Given the description of an element on the screen output the (x, y) to click on. 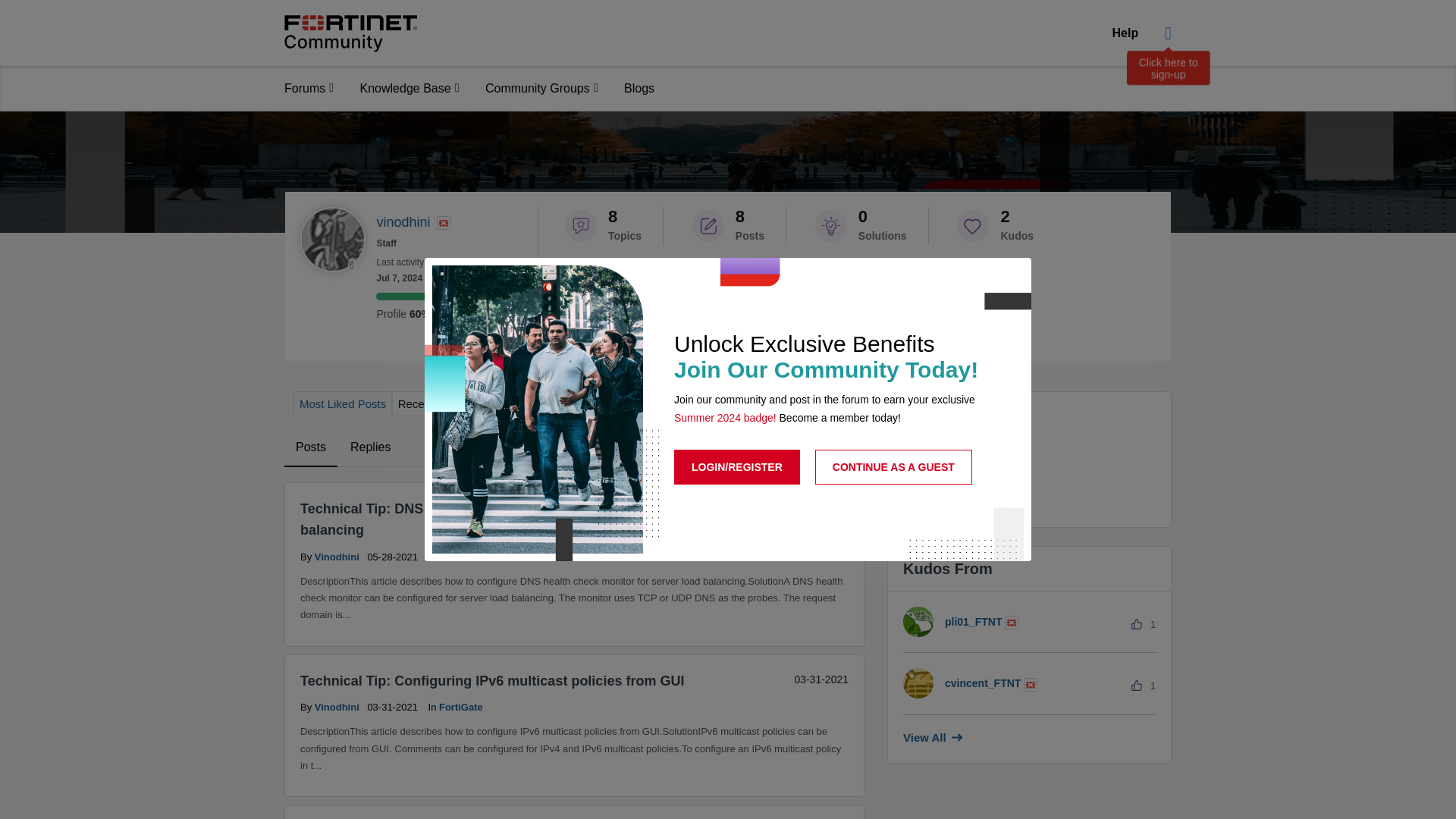
Discussion Starter (712, 289)
Staff (442, 223)
View profile (338, 555)
First Kudos Received (587, 289)
Help (1125, 32)
Knowledge Base (409, 88)
03-31-2021 11:37 AM 03-31-2021 11:37 AM (820, 679)
Forums (309, 88)
View profile (338, 706)
Staff (1029, 684)
